Given the description of an element on the screen output the (x, y) to click on. 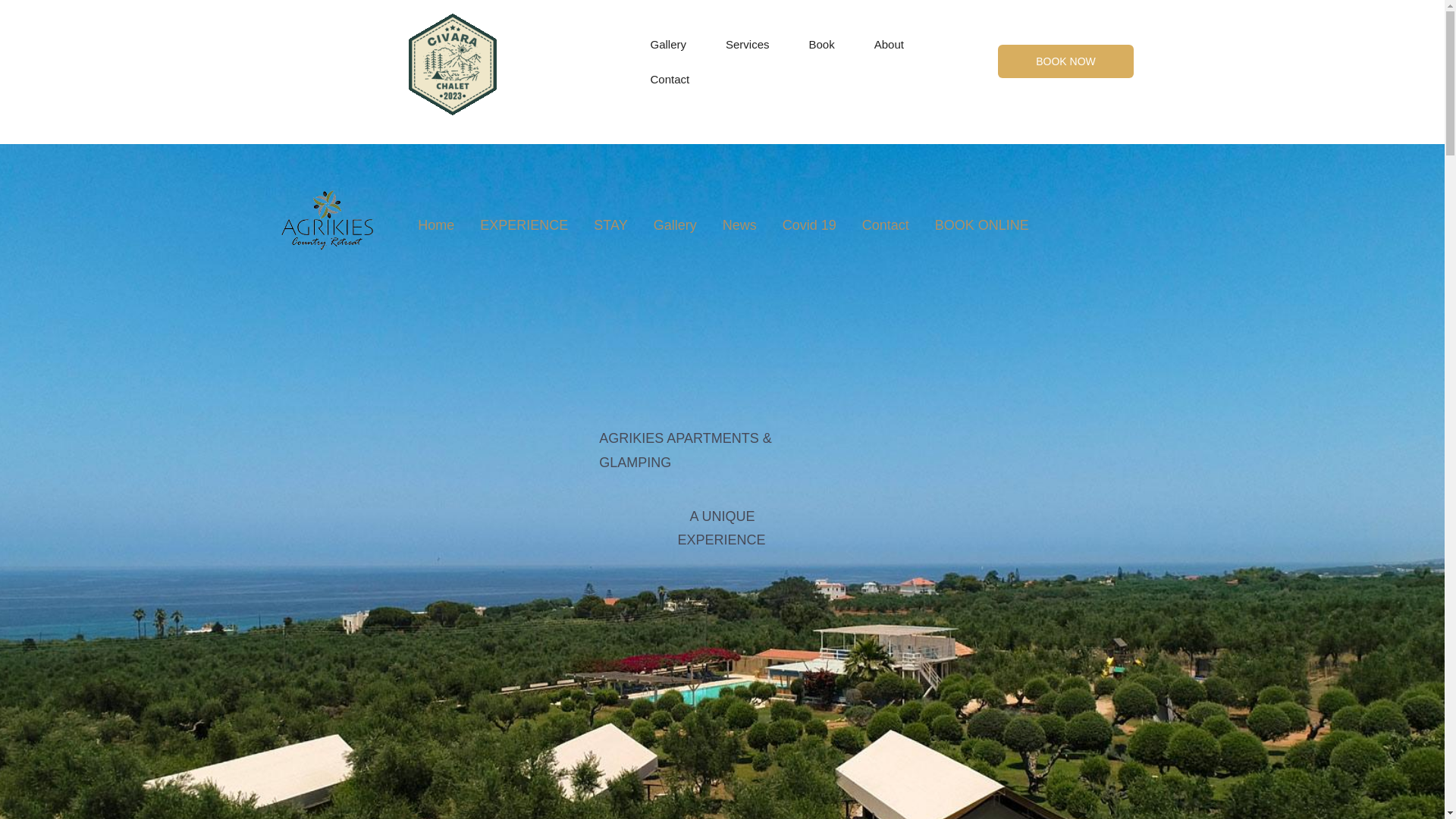
EXPERIENCE (523, 225)
Contact (669, 79)
Covid 19 (809, 225)
Book (821, 44)
Gallery (668, 44)
BOOK ONLINE (981, 225)
BOOK NOW (1065, 60)
About (888, 44)
Services (747, 44)
